Given the description of an element on the screen output the (x, y) to click on. 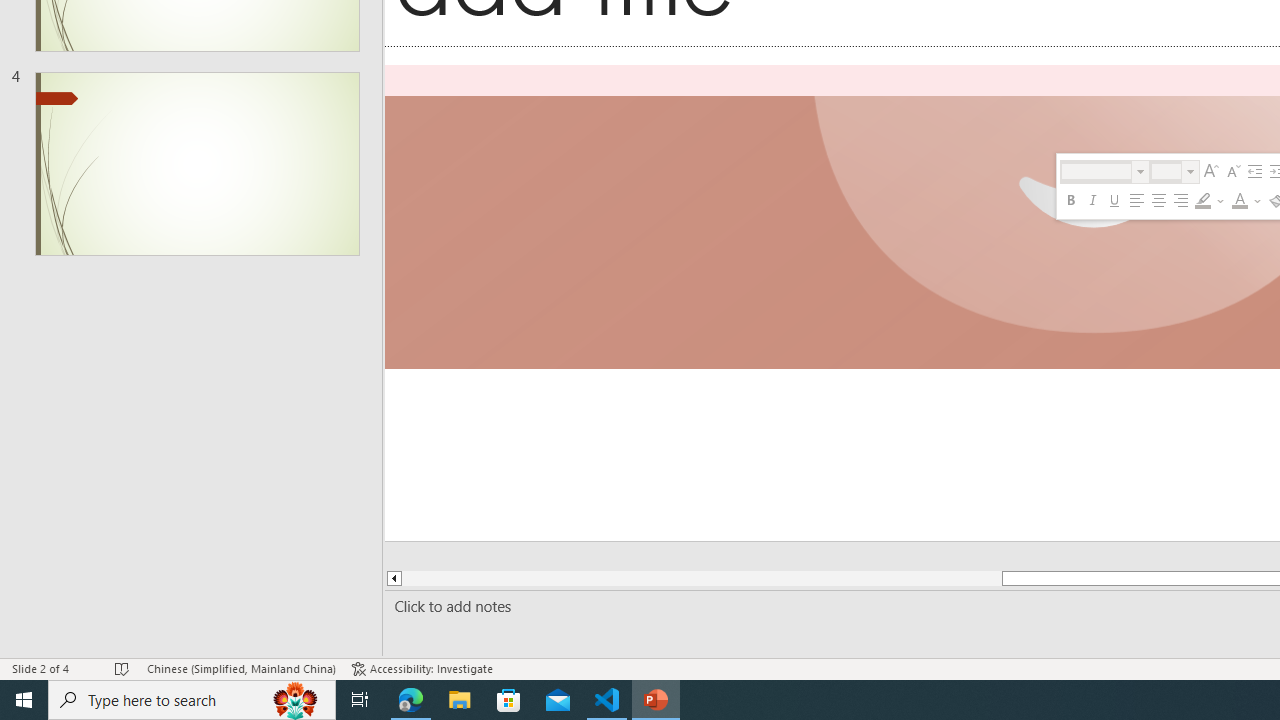
Class: NetUIComboboxAnchor (1174, 171)
